Given the description of an element on the screen output the (x, y) to click on. 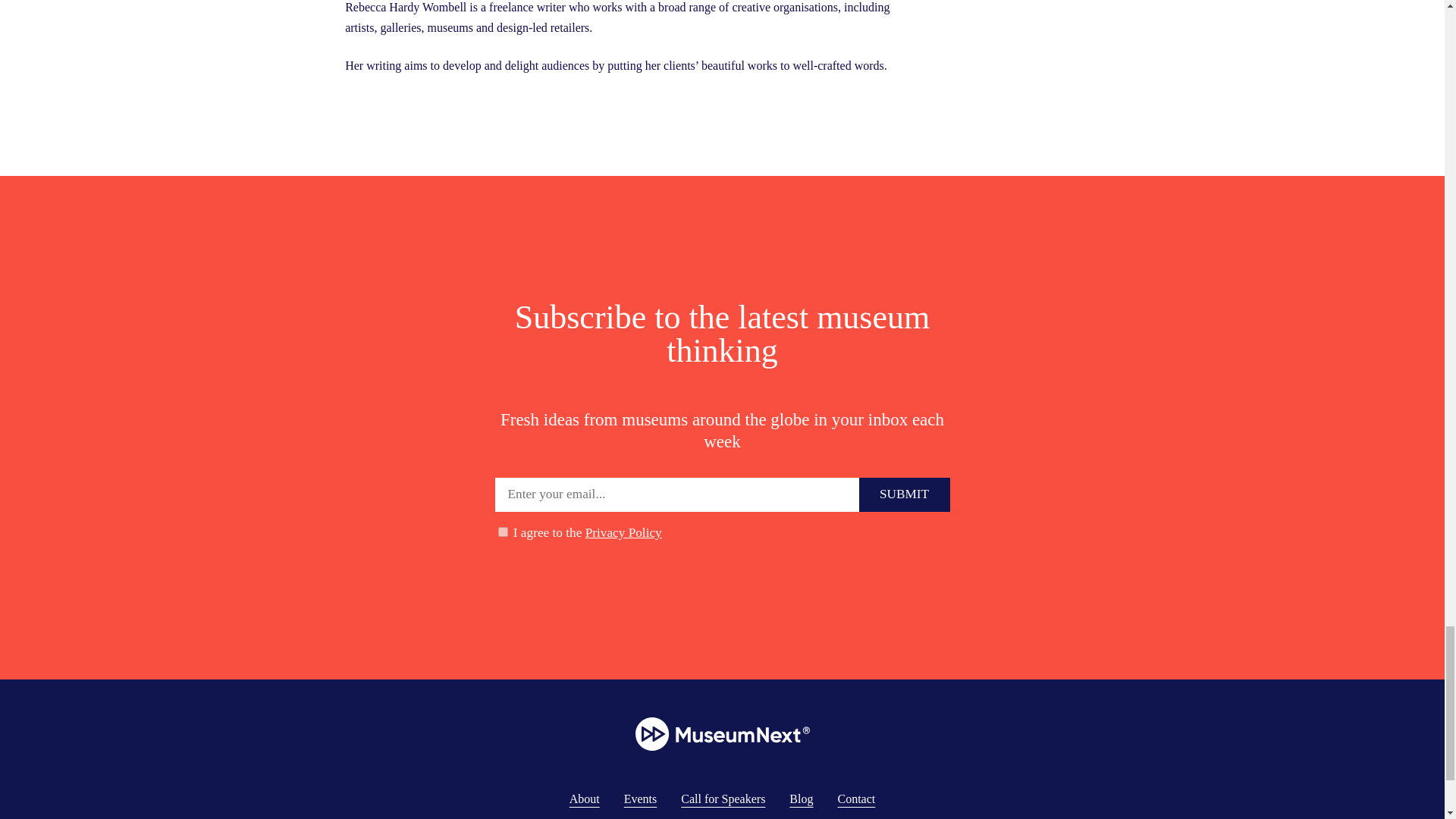
Submit (904, 494)
Submit (904, 494)
Privacy Policy (623, 532)
Call for Speakers (723, 798)
Contact (856, 798)
Blog (800, 798)
About (584, 798)
1 (501, 532)
Events (641, 798)
